Given the description of an element on the screen output the (x, y) to click on. 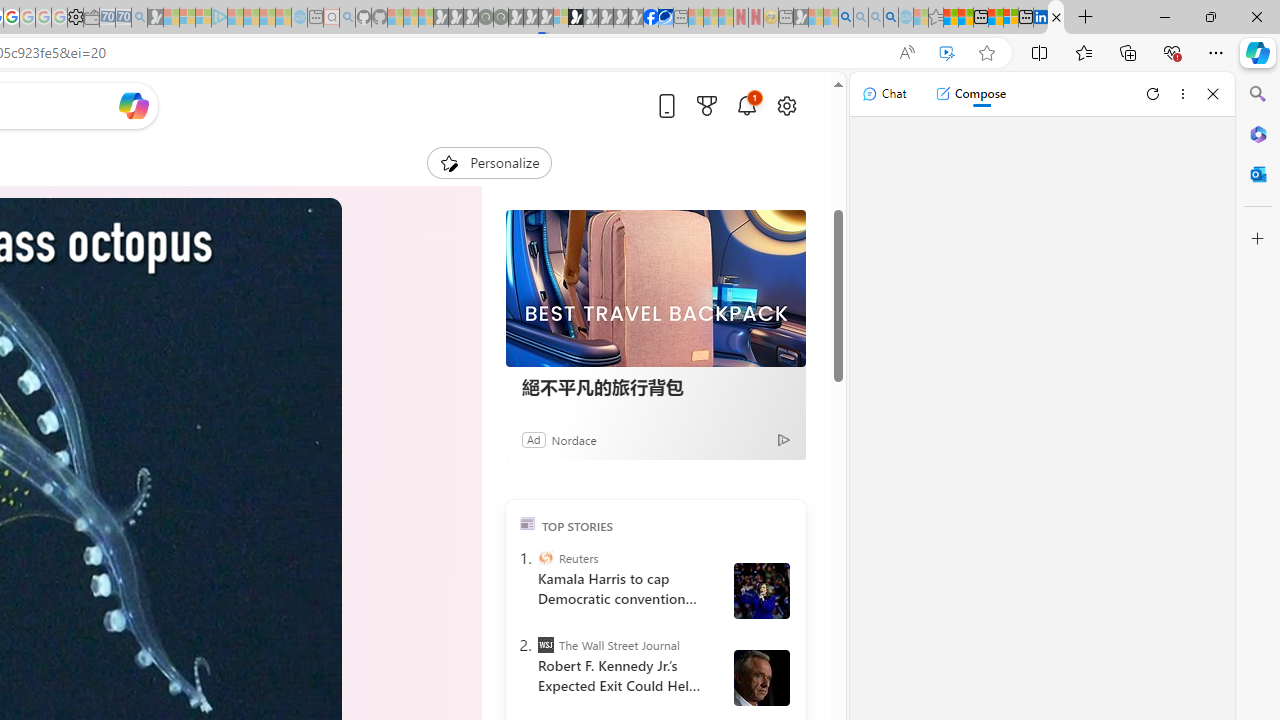
Chat (884, 93)
Sign in to your account - Sleeping (561, 17)
Google Chrome Internet Browser Download - Search Images (891, 17)
Nordace | Facebook (650, 17)
 Harris and Walz campaign in Wisconsin (761, 591)
Enhance video (946, 53)
